Given the description of an element on the screen output the (x, y) to click on. 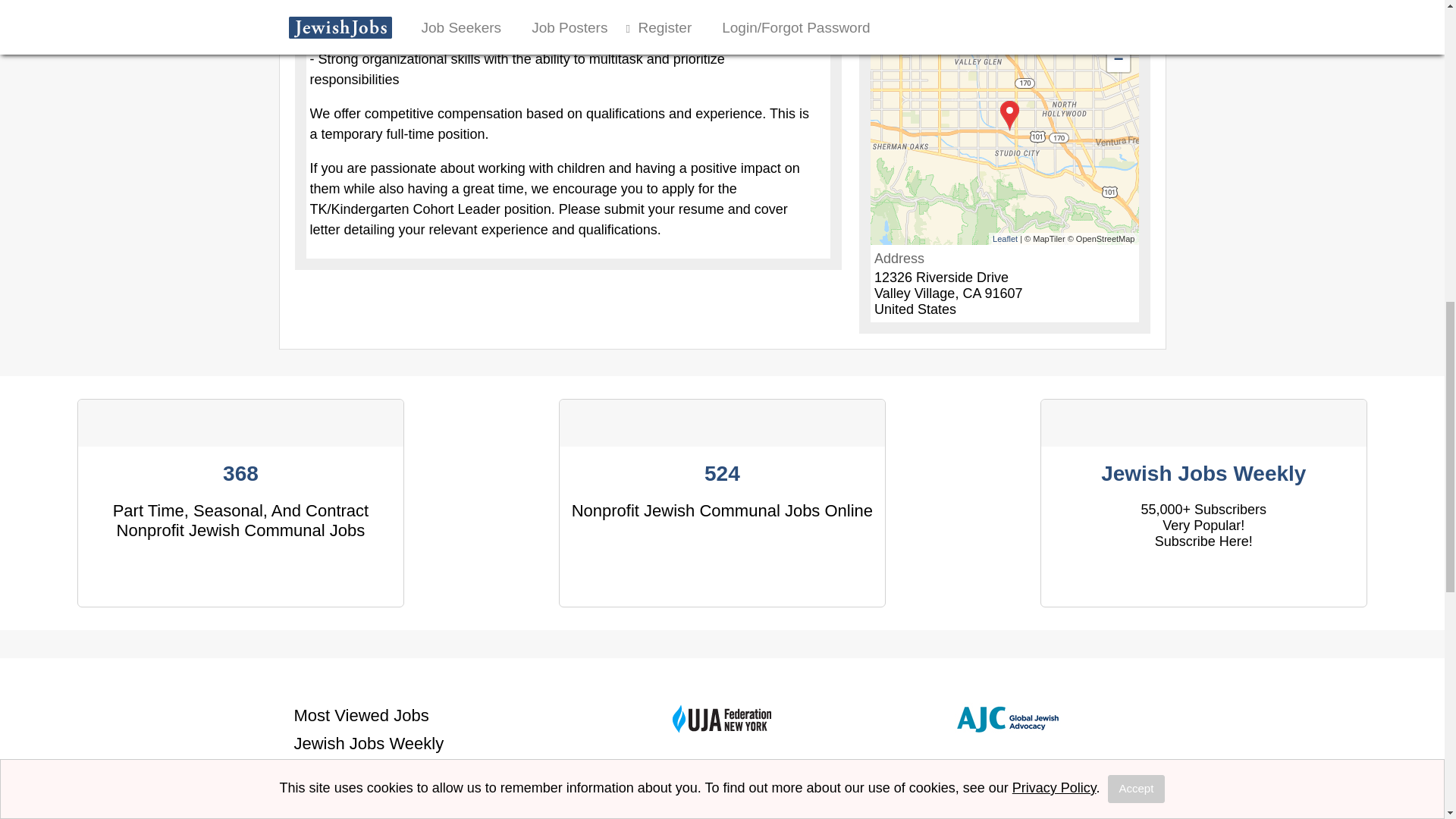
Jewish Jobs Weekly (369, 742)
Job Posting Fees (358, 770)
Zoom in (1117, 37)
Job Poster FAQs (357, 818)
Member Confidentiality (379, 799)
368 (240, 473)
Leaflet (1004, 237)
Most Viewed Jobs (361, 714)
A JS library for interactive maps (1004, 237)
Jewish Jobs Weekly (1203, 473)
Zoom out (1117, 60)
524 (721, 473)
